Given the description of an element on the screen output the (x, y) to click on. 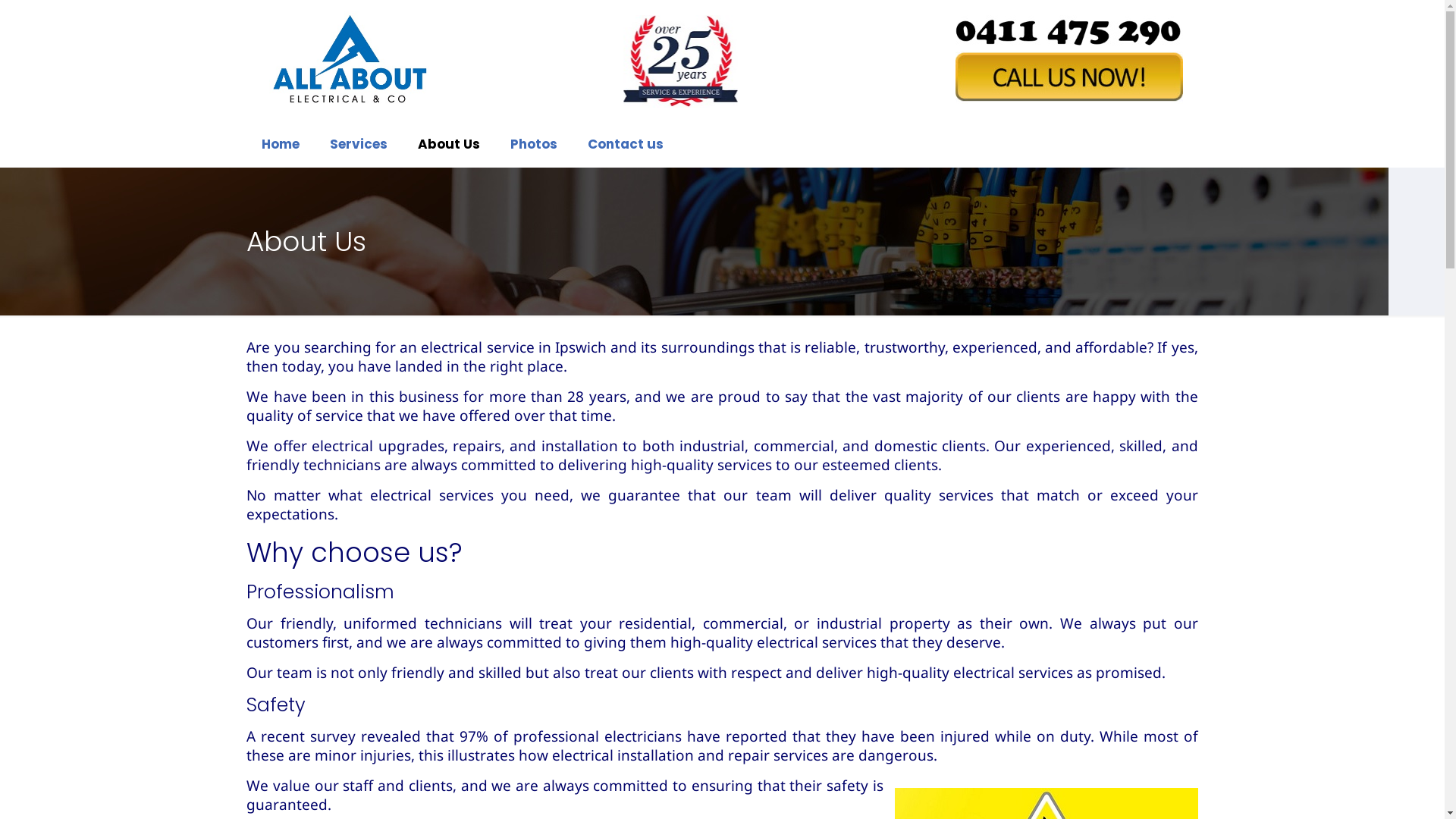
Home Element type: text (280, 143)
Photos Element type: text (533, 143)
Contact us Element type: text (625, 143)
About Us Element type: text (448, 143)
Services Element type: text (358, 143)
All About Electrical Element type: hover (349, 60)
